Given the description of an element on the screen output the (x, y) to click on. 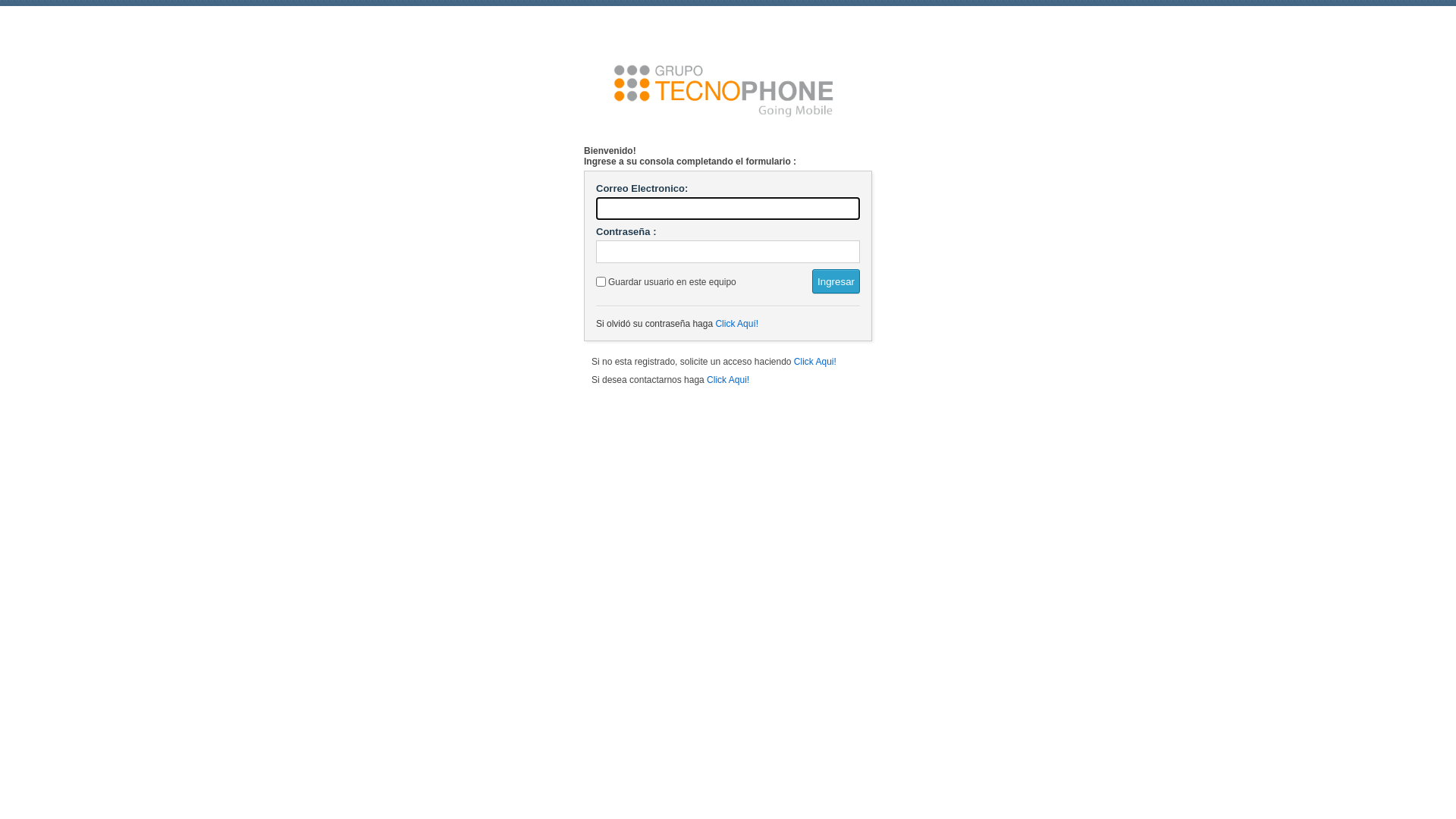
Click Aqui! Element type: text (727, 379)
Click Aqui! Element type: text (814, 361)
Ingresar Element type: text (835, 281)
